Given the description of an element on the screen output the (x, y) to click on. 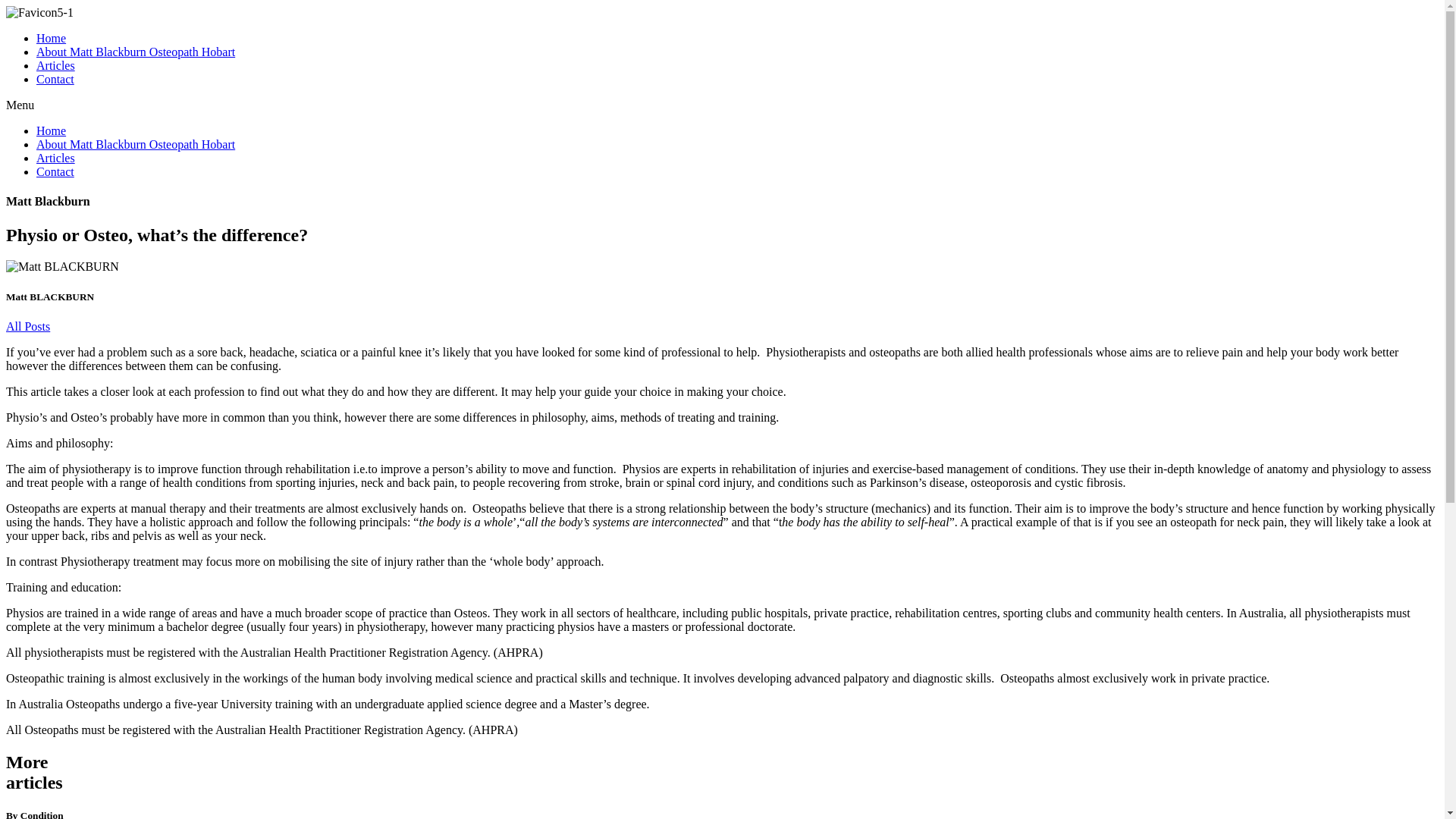
Home Element type: text (50, 37)
All Posts Element type: text (28, 326)
Contact Element type: text (55, 78)
About Matt Blackburn Osteopath Hobart Element type: text (135, 51)
Articles Element type: text (55, 157)
Home Element type: text (50, 130)
Contact Element type: text (55, 171)
Articles Element type: text (55, 65)
About Matt Blackburn Osteopath Hobart Element type: text (135, 144)
Favicon5-1 Element type: hover (39, 12)
